Given the description of an element on the screen output the (x, y) to click on. 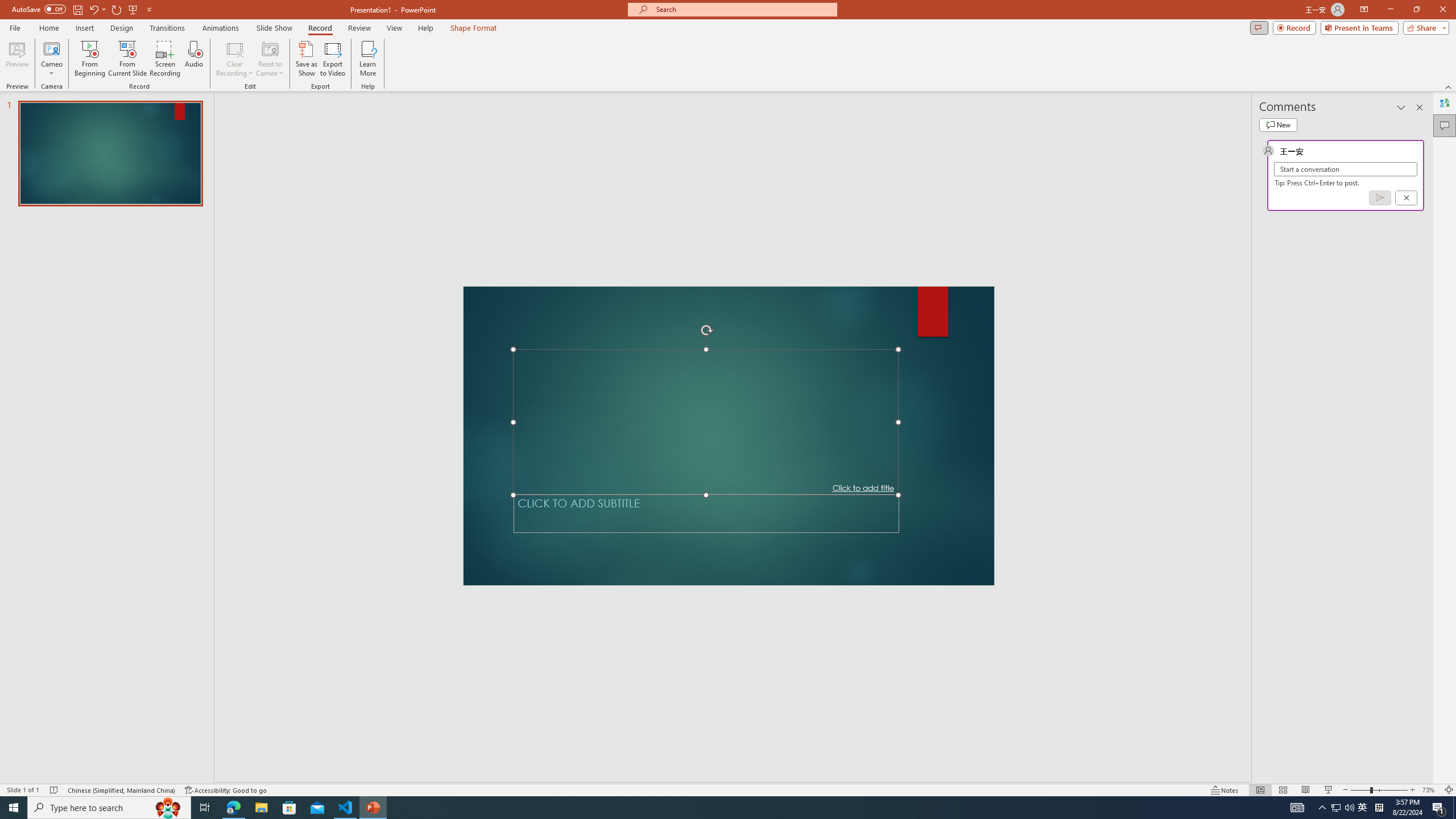
Reset to Cameo (269, 58)
Save as Show (306, 58)
Post comment (Ctrl + Enter) (1379, 197)
Screen Recording (165, 58)
Export to Video (332, 58)
